Given the description of an element on the screen output the (x, y) to click on. 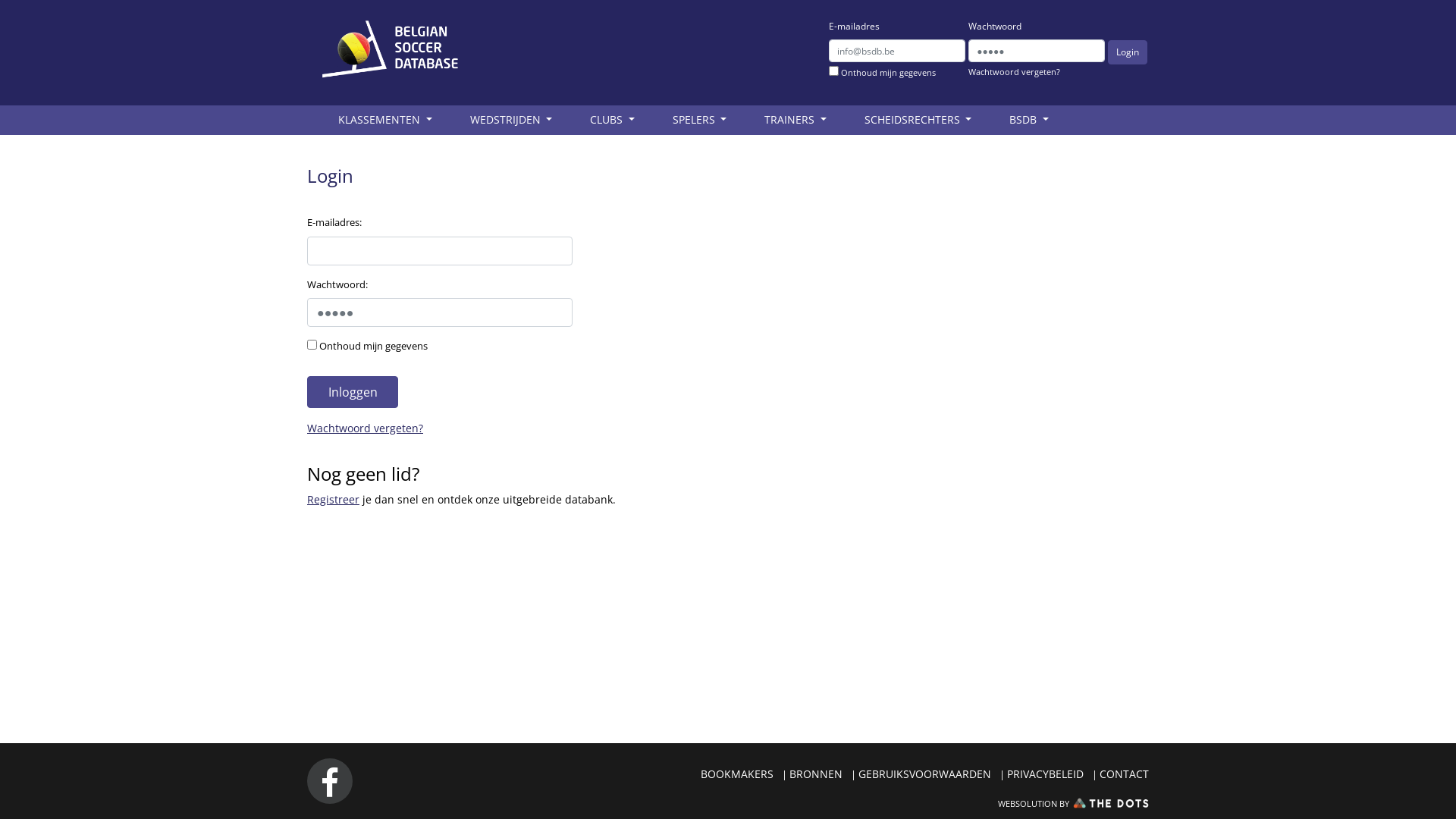
CLUBS Element type: text (612, 119)
PRIVACYBELEID Element type: text (1045, 773)
CONTACT Element type: text (1123, 773)
TRAINERS Element type: text (795, 119)
Registreer Element type: text (333, 499)
Login Element type: text (1127, 52)
BRONNEN Element type: text (815, 773)
GEBRUIKSVOORWAARDEN Element type: text (924, 773)
Wachtwoord vergeten? Element type: text (1034, 71)
SCHEIDSRECHTERS Element type: text (918, 119)
BOOKMAKERS Element type: text (736, 773)
Inloggen Element type: text (352, 391)
BSDB Element type: text (1028, 119)
WEDSTRIJDEN Element type: text (511, 119)
KLASSEMENTEN Element type: text (385, 119)
SPELERS Element type: text (699, 119)
Wachtwoord vergeten? Element type: text (365, 427)
